Given the description of an element on the screen output the (x, y) to click on. 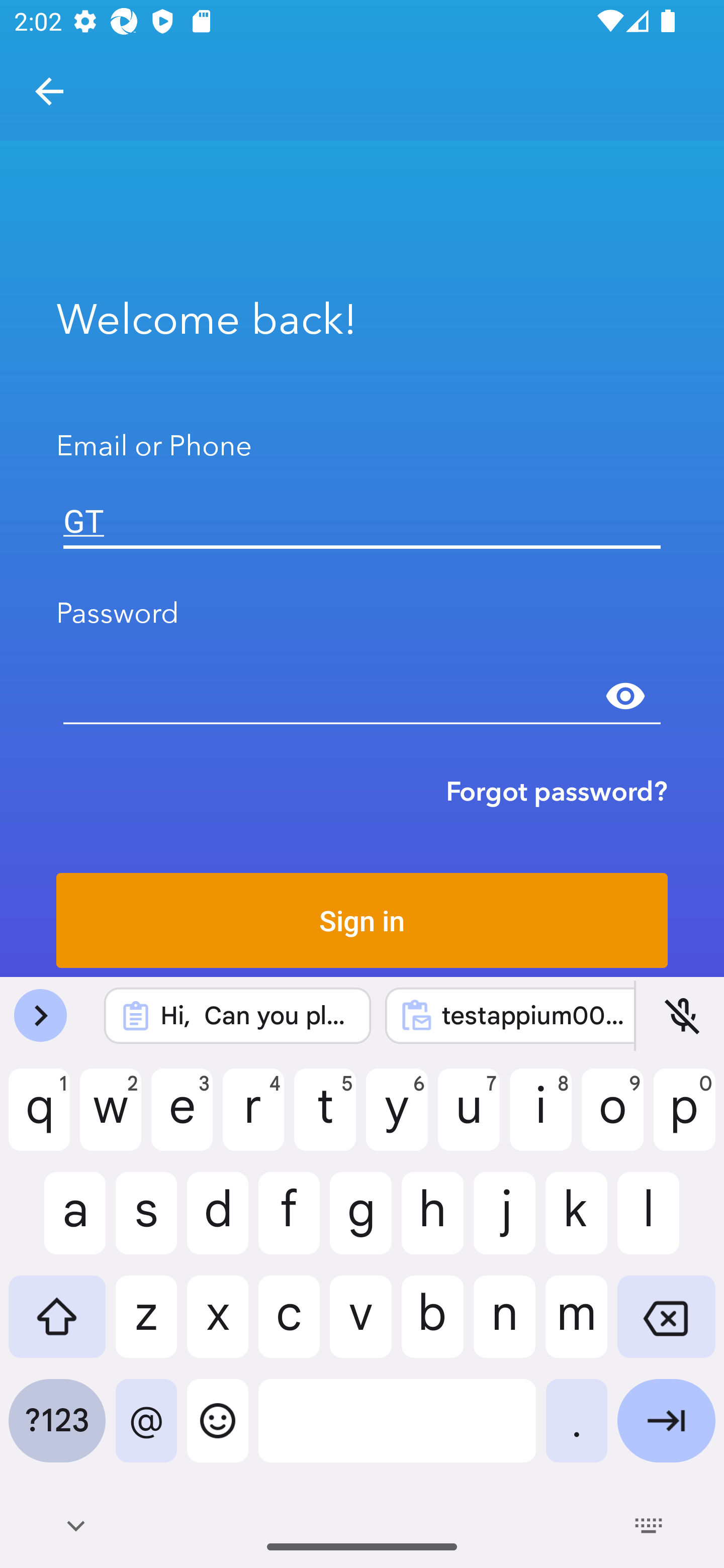
Navigate up (49, 91)
GT (361, 521)
Show password (625, 695)
Forgot password? (556, 790)
Sign in (361, 920)
